Given the description of an element on the screen output the (x, y) to click on. 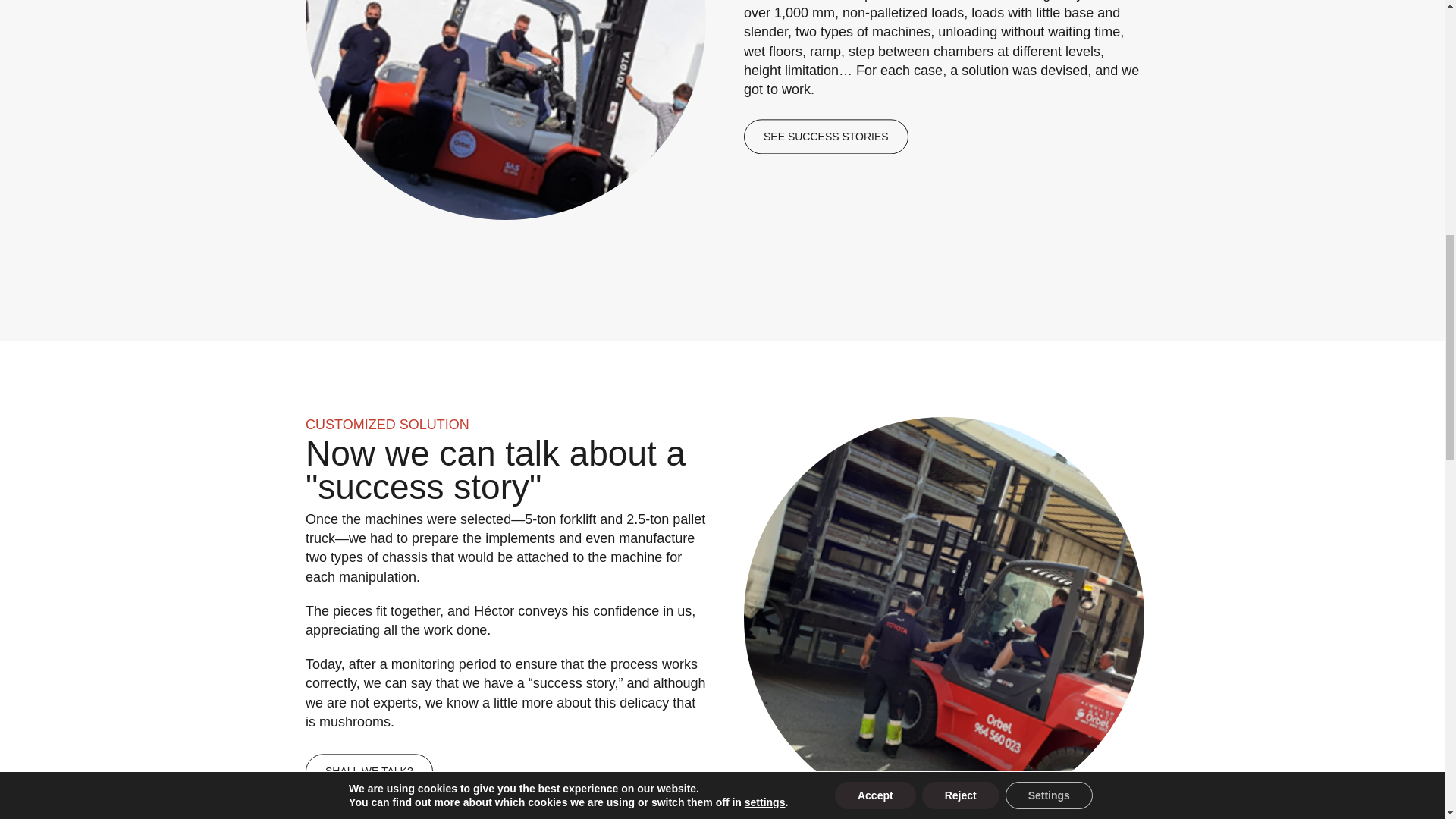
SEE SUCCESS STORIES (824, 136)
SHALL WE TALK? (368, 770)
